Given the description of an element on the screen output the (x, y) to click on. 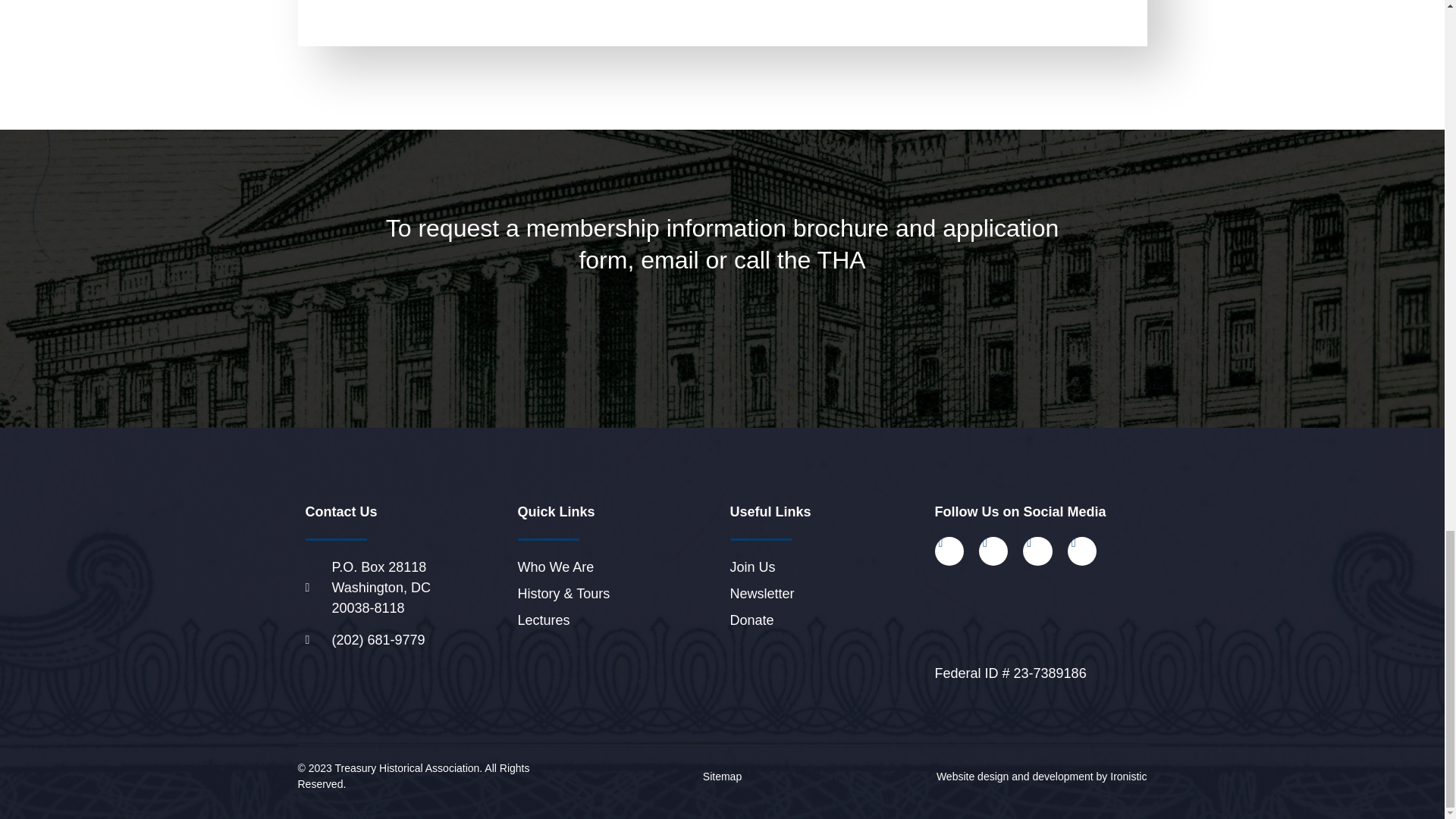
Who We Are (619, 567)
Join Us (831, 567)
Lectures (619, 620)
